Given the description of an element on the screen output the (x, y) to click on. 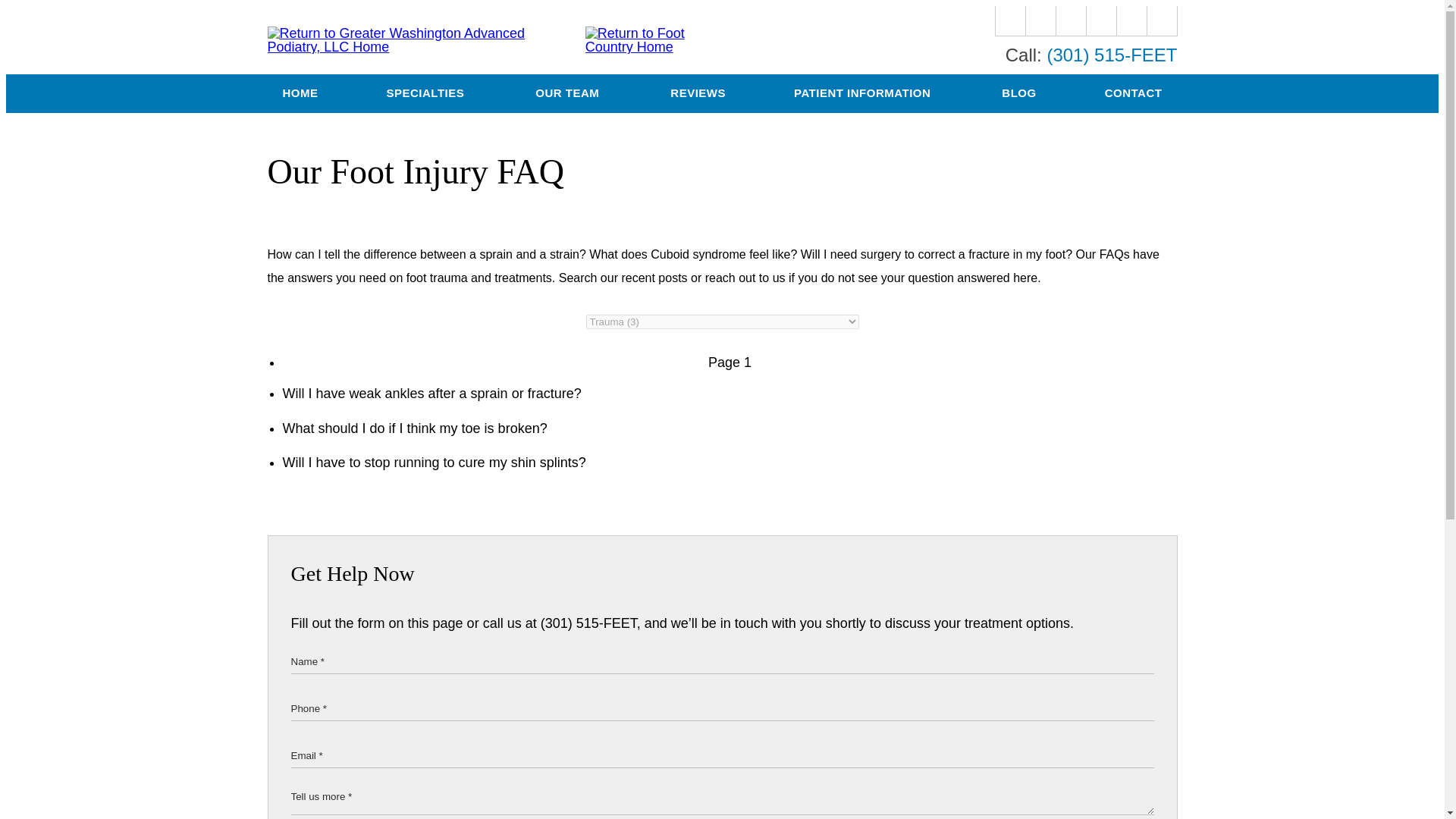
CONTACT (1133, 93)
Will I have to stop running to cure my shin splints? (729, 463)
HOME (300, 93)
Will I have weak ankles after a sprain or fracture? (729, 393)
BLOG (1019, 93)
Search (1161, 20)
PATIENT INFORMATION (864, 93)
What should I do if I think my toe is broken? (729, 428)
SPECIALTIES (427, 93)
OUR TEAM (568, 93)
REVIEWS (698, 93)
